Given the description of an element on the screen output the (x, y) to click on. 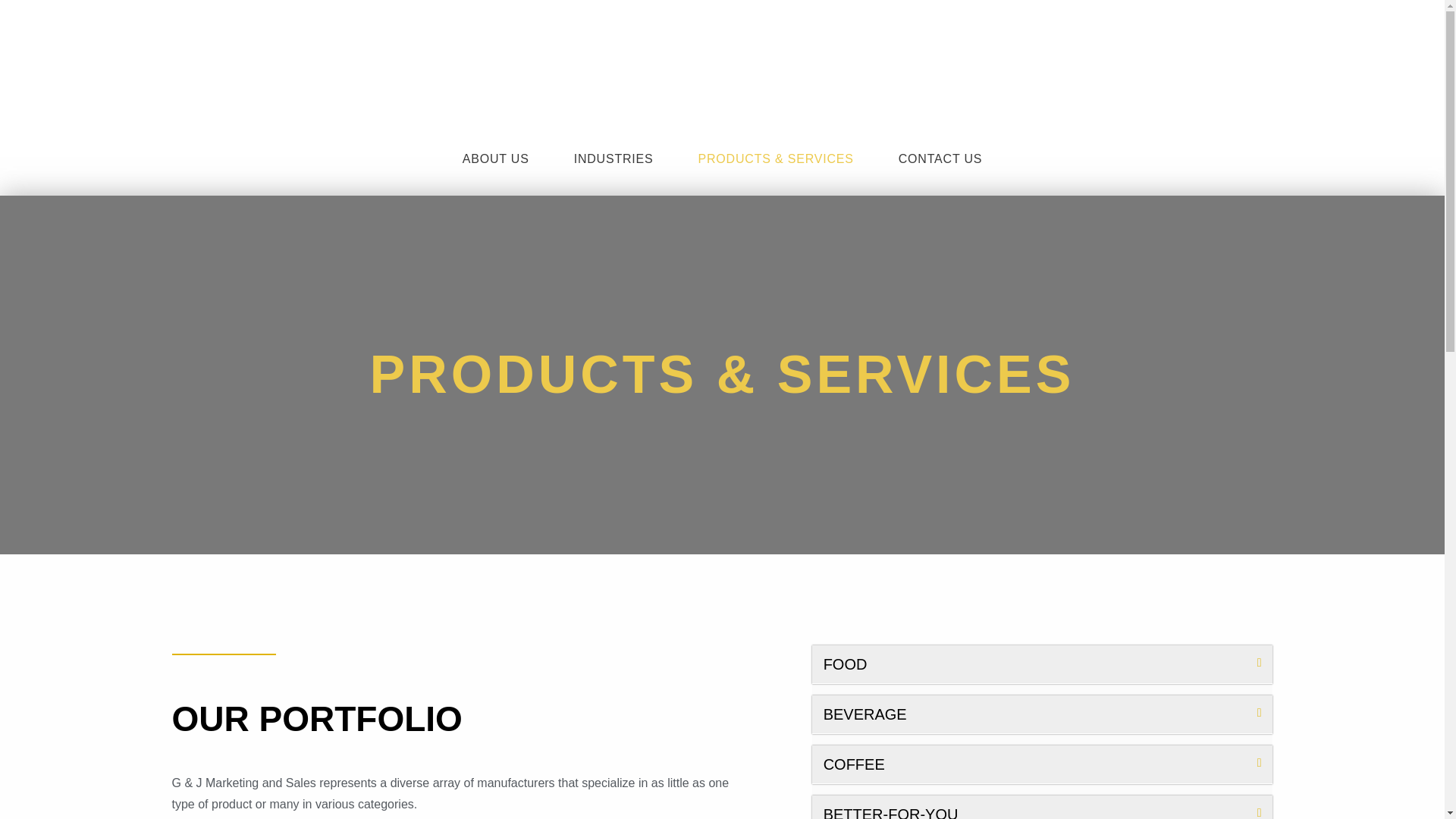
ABOUT US (499, 158)
INDUSTRIES (617, 158)
COFFEE (854, 764)
FOOD (845, 664)
BEVERAGE (865, 713)
BETTER-FOR-YOU (891, 812)
CONTACT US (940, 158)
